Given the description of an element on the screen output the (x, y) to click on. 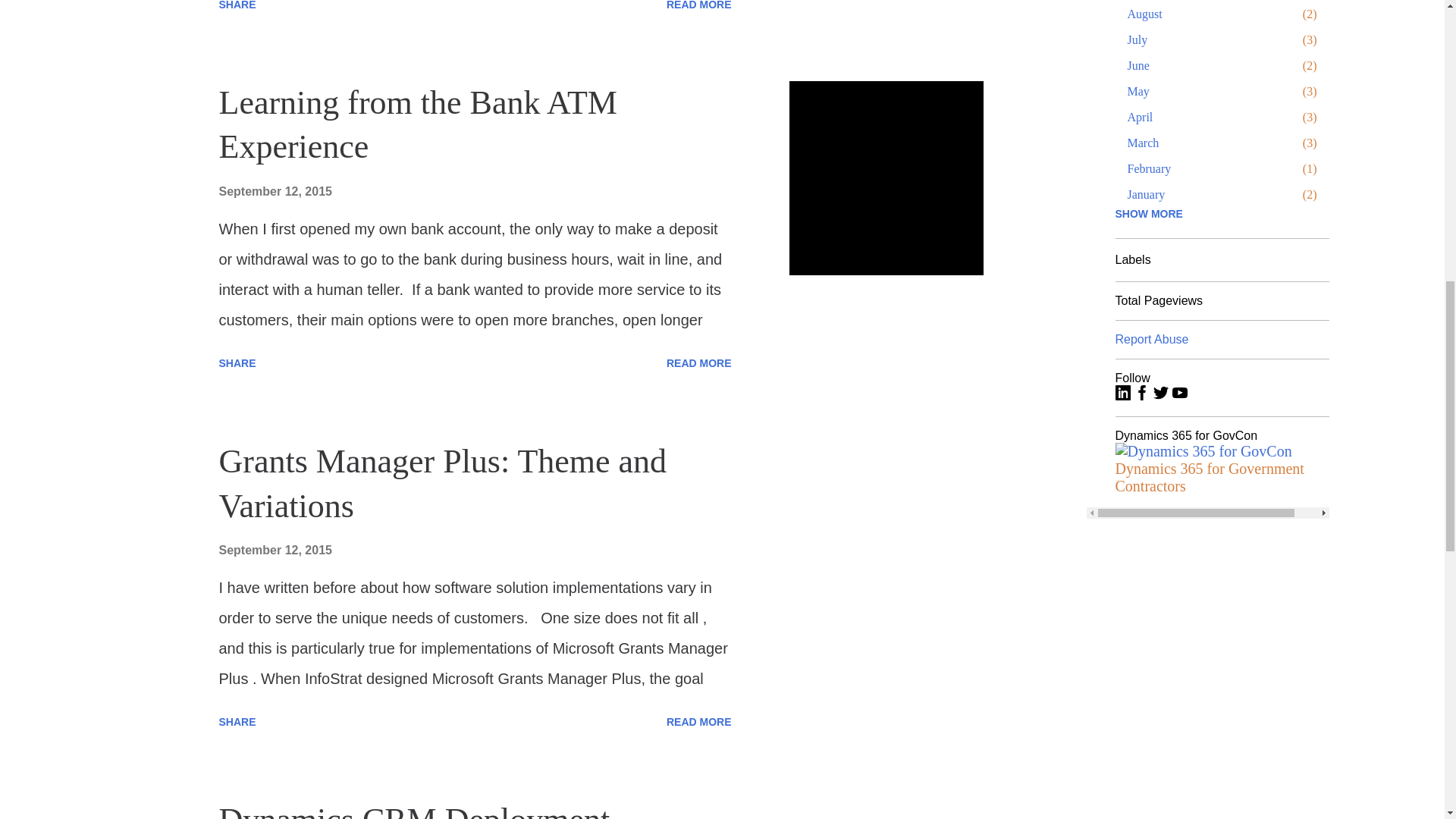
READ MORE (699, 363)
Dynamics CRM Deployment Planning Services from Microsoft (444, 810)
Learning from the Bank ATM Experience (416, 125)
READ MORE (699, 721)
September 12, 2015 (274, 191)
Grants Manager Plus: Theme and Variations (442, 483)
SHARE (237, 8)
READ MORE (699, 8)
September 12, 2015 (274, 549)
SHARE (237, 363)
SHARE (237, 721)
